Given the description of an element on the screen output the (x, y) to click on. 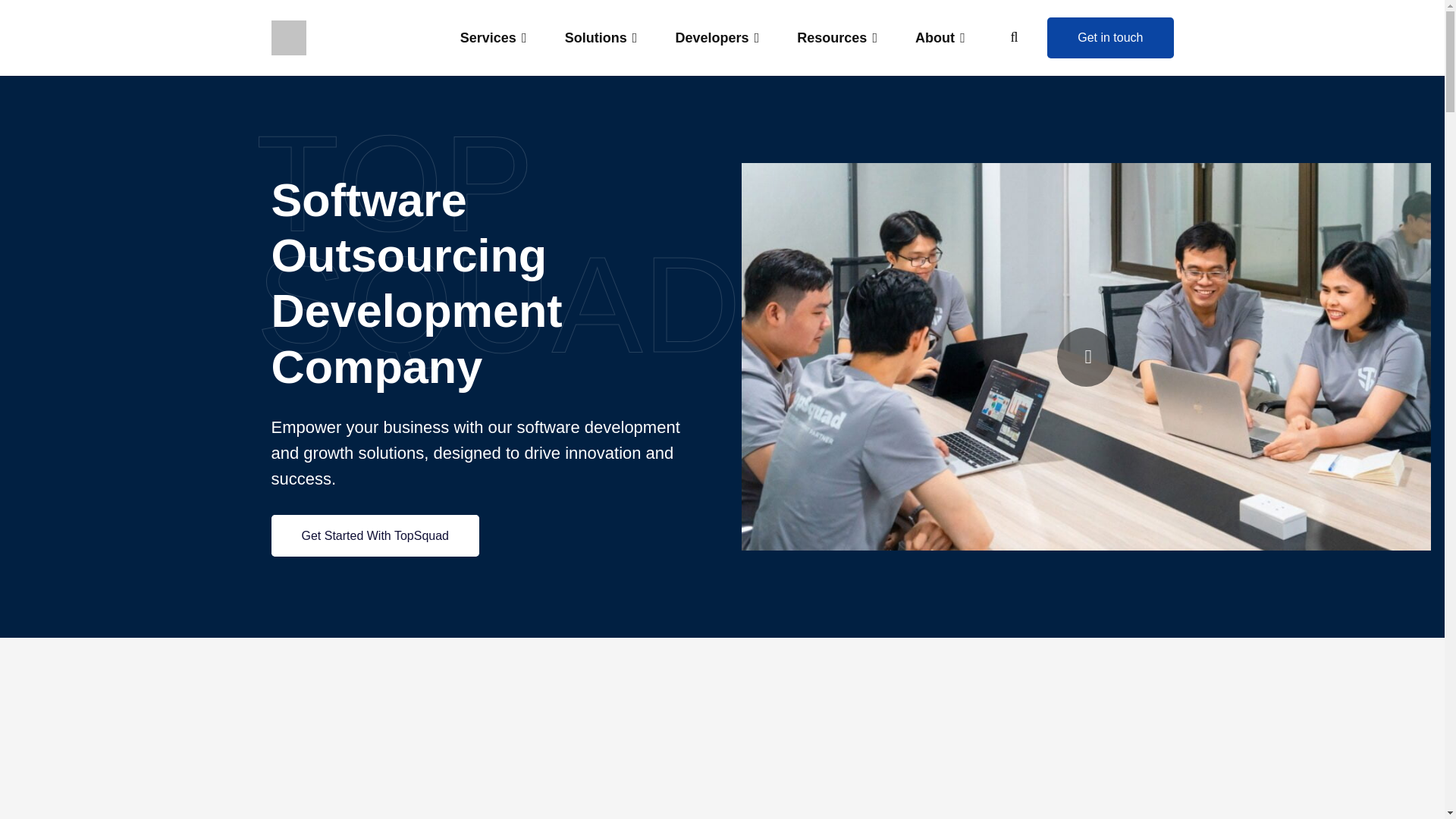
Developers (716, 38)
Services (493, 38)
Solutions (601, 38)
